Given the description of an element on the screen output the (x, y) to click on. 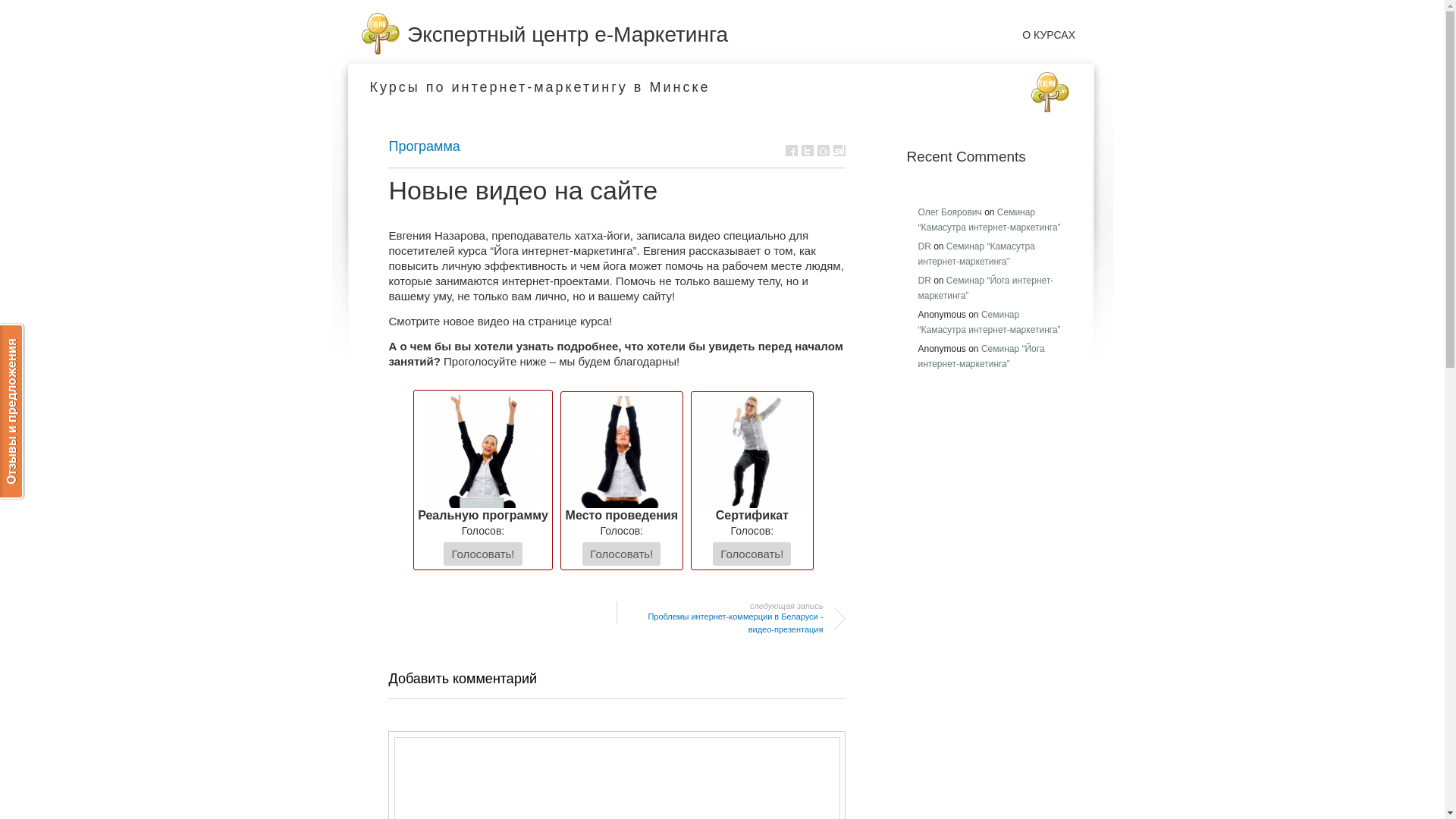
DR Element type: text (923, 246)
DR Element type: text (923, 280)
